Given the description of an element on the screen output the (x, y) to click on. 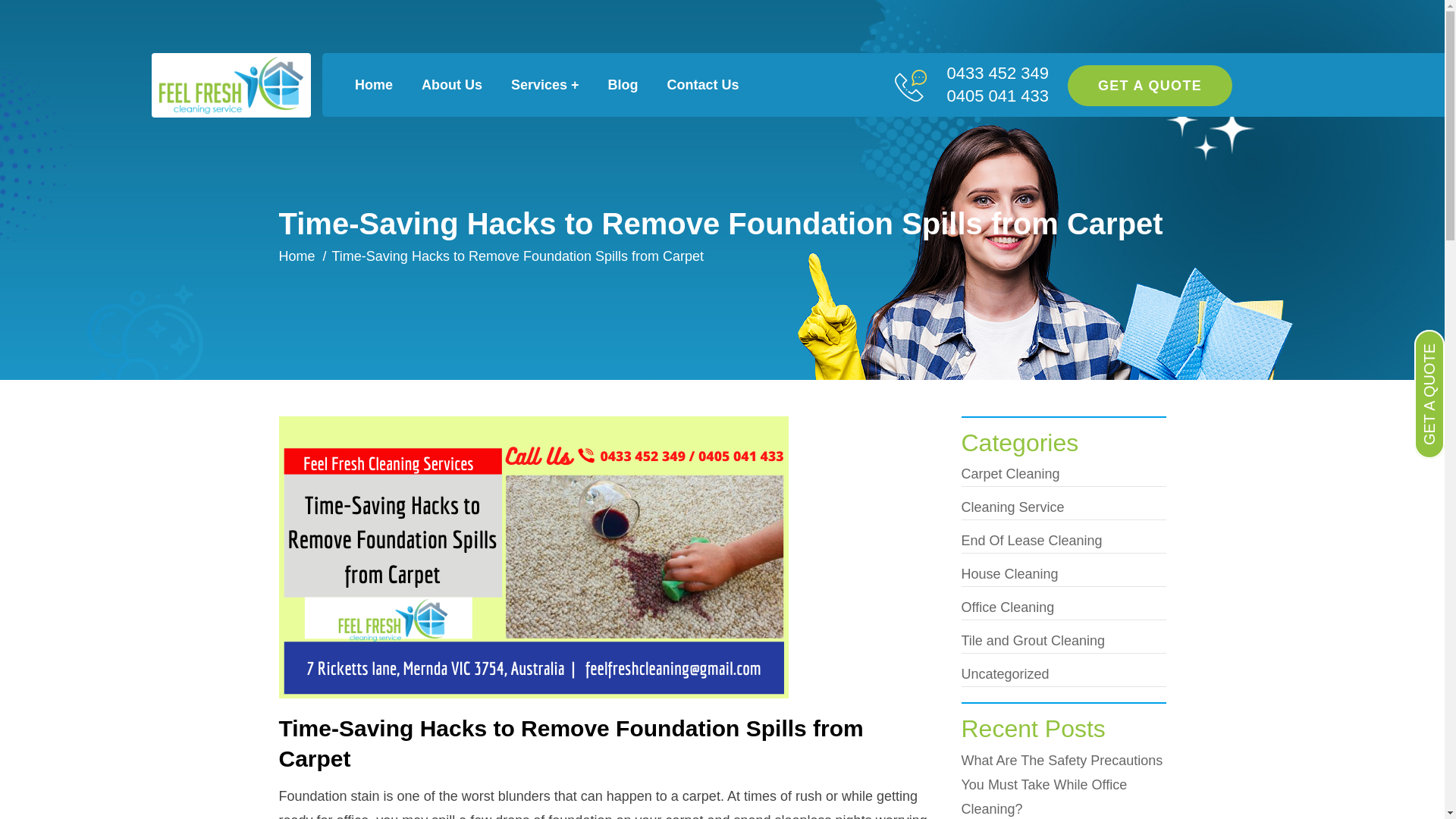
Services + Element type: text (552, 84)
Contact Us Element type: text (710, 84)
About Us Element type: text (458, 84)
Time-Saving Hacks to Remove Foundation Spills from Carpet Element type: text (608, 743)
Carpet Cleaning Element type: text (1063, 473)
Home Element type: text (380, 84)
0405 041 433 Element type: text (997, 95)
End Of Lease Cleaning Element type: text (1063, 540)
Office Cleaning Element type: text (1063, 607)
Cleaning Service Element type: text (1063, 507)
Tile and Grout Cleaning Element type: text (1063, 640)
Uncategorized Element type: text (1063, 674)
0433 452 349 Element type: text (997, 73)
House Cleaning Element type: text (1063, 573)
Blog Element type: text (630, 84)
Home Element type: text (297, 255)
